Given the description of an element on the screen output the (x, y) to click on. 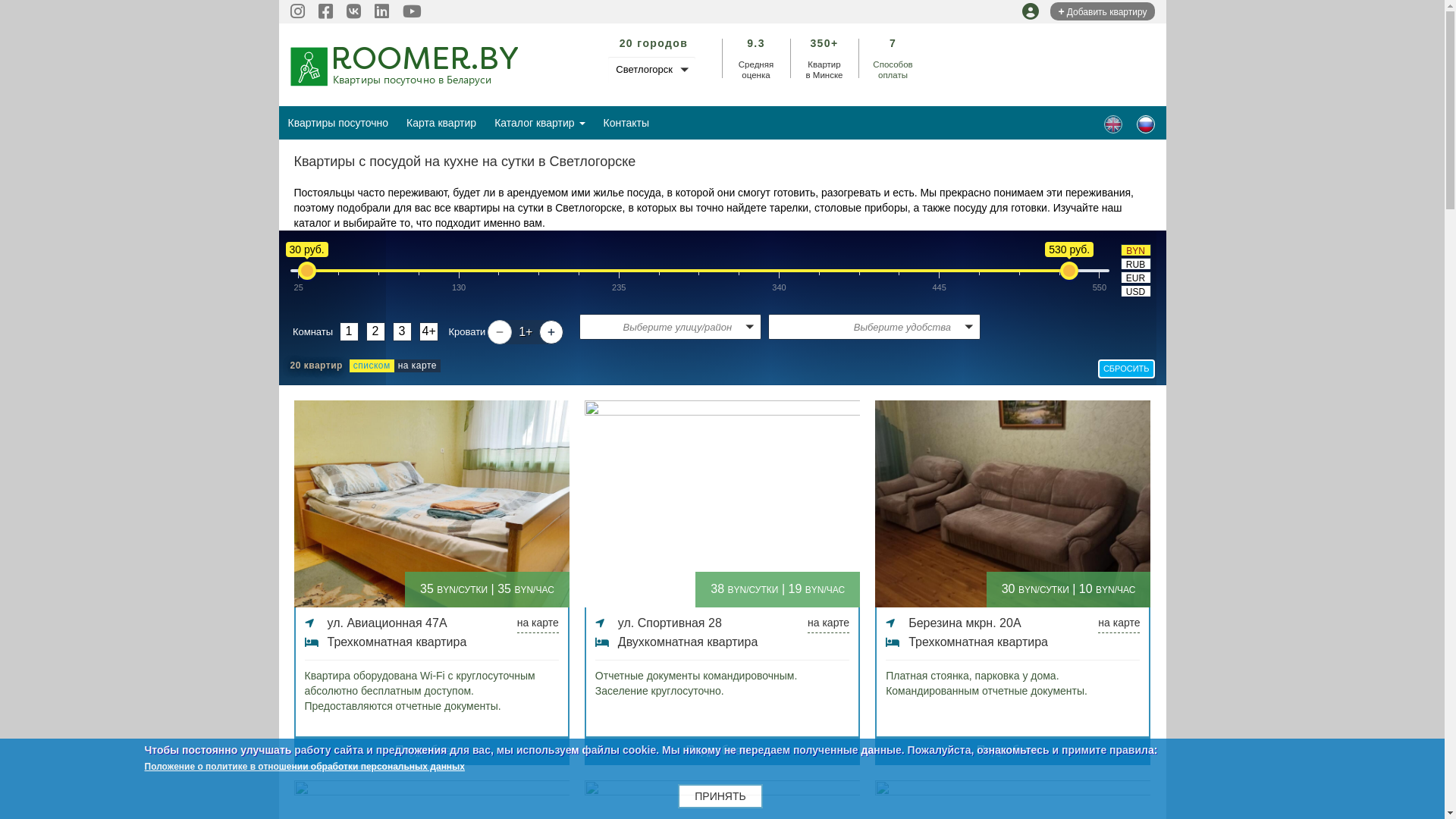
Dishes Element type: hover (1113, 124)
